Given the description of an element on the screen output the (x, y) to click on. 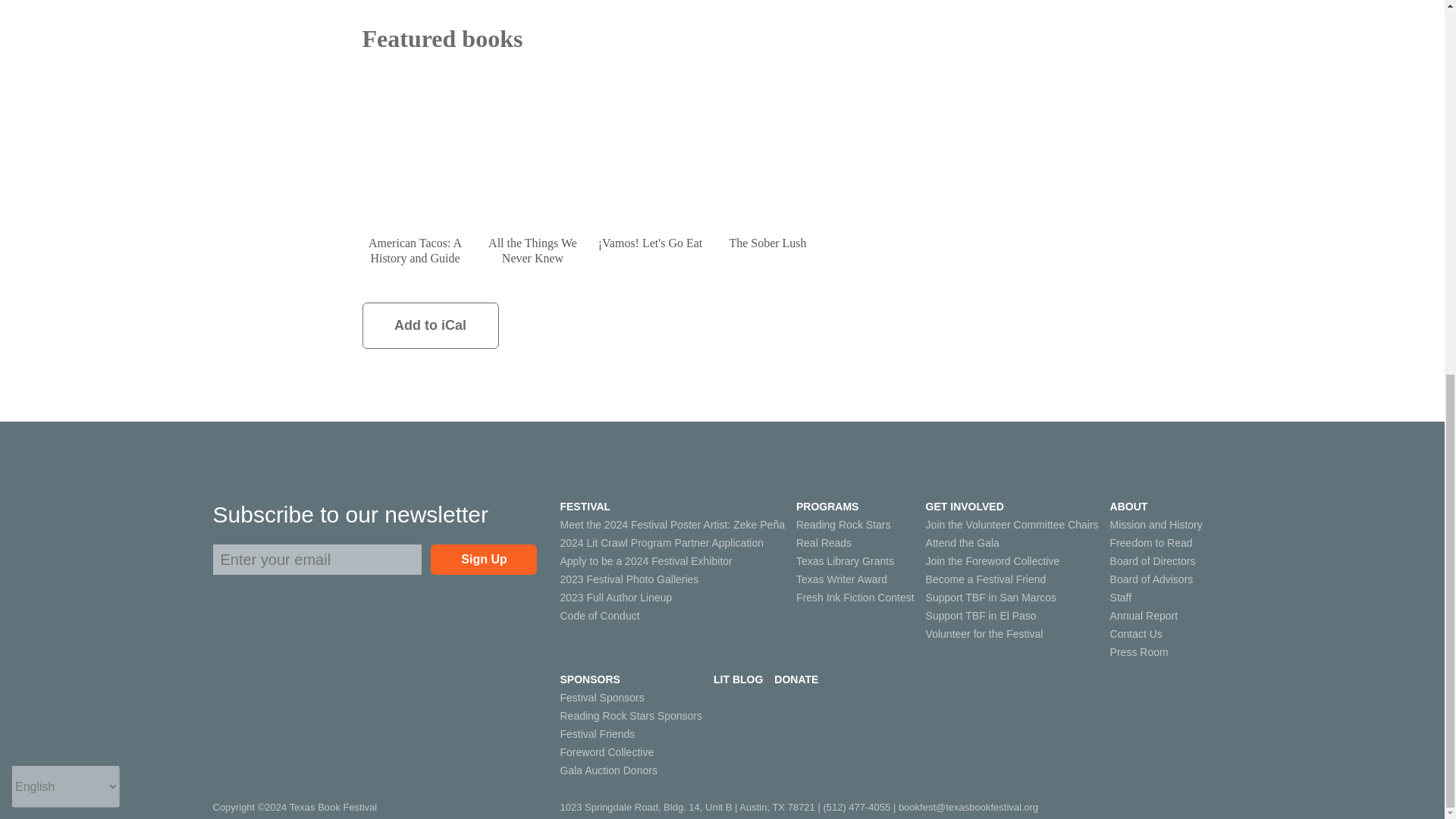
Sign Up (483, 559)
